Given the description of an element on the screen output the (x, y) to click on. 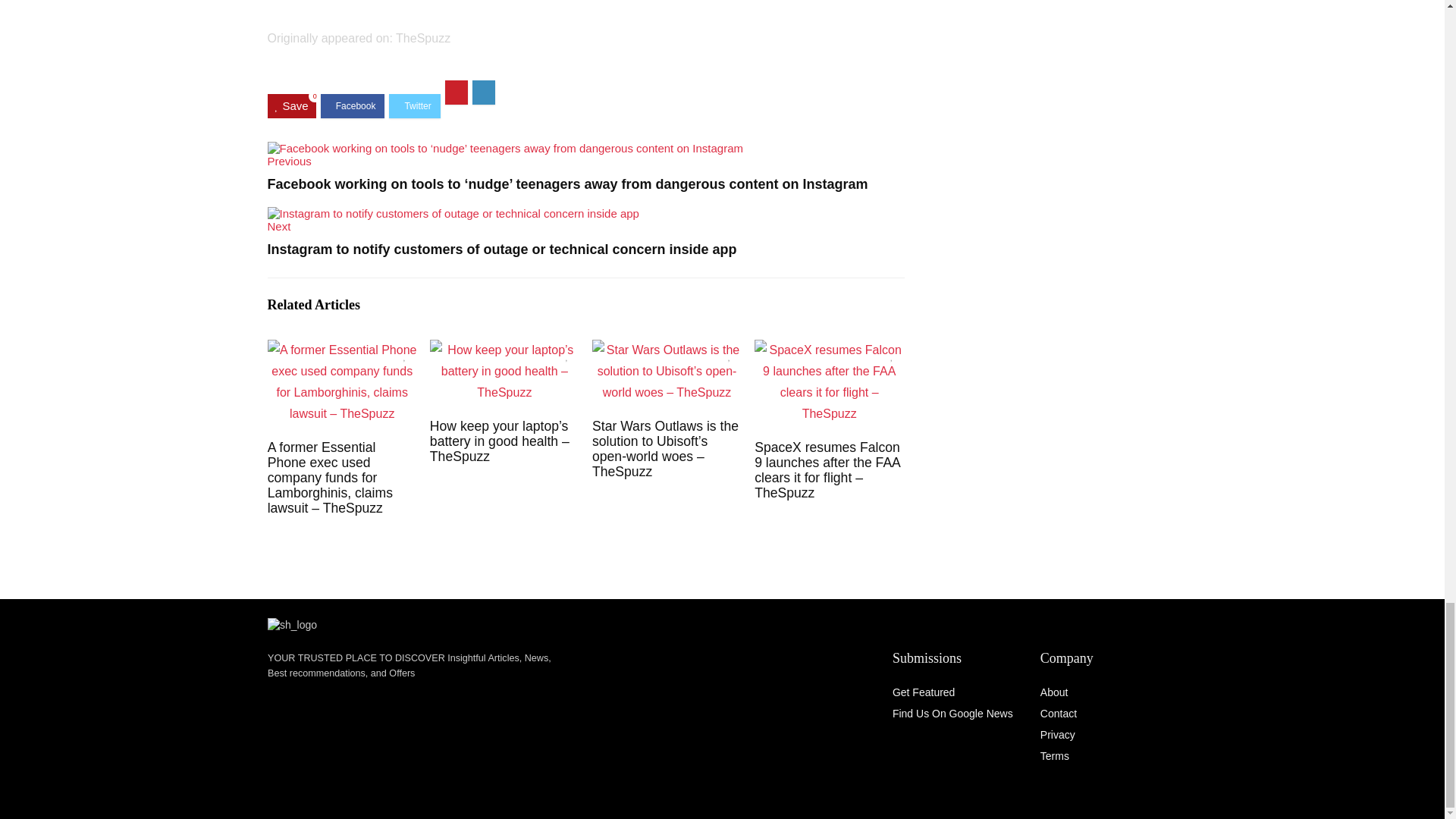
About (1054, 692)
Get Featured (923, 692)
TheSpuzz (422, 38)
Privacy (1058, 734)
Contact (1059, 713)
Find Us On Google News (952, 713)
Terms (1054, 756)
